Given the description of an element on the screen output the (x, y) to click on. 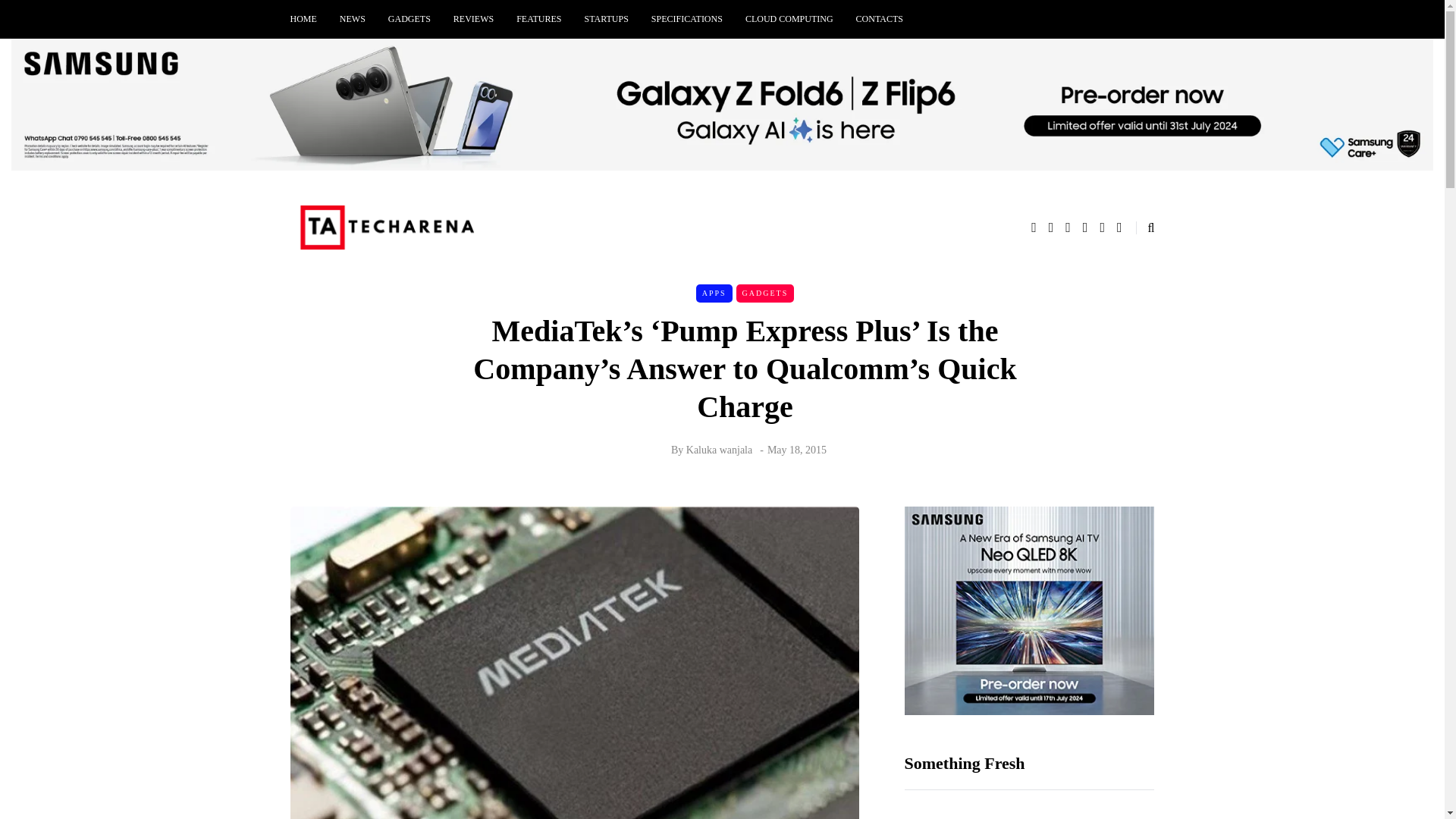
HOME (308, 19)
NEWS (353, 19)
GADGETS (409, 19)
SPECIFICATIONS (686, 19)
STARTUPS (606, 19)
Search (43, 15)
REVIEWS (473, 19)
Posts by Kaluka wanjala (718, 449)
GADGETS (765, 293)
FEATURES (538, 19)
CONTACTS (879, 19)
Kaluka wanjala (718, 449)
APPS (713, 293)
CLOUD COMPUTING (788, 19)
